Given the description of an element on the screen output the (x, y) to click on. 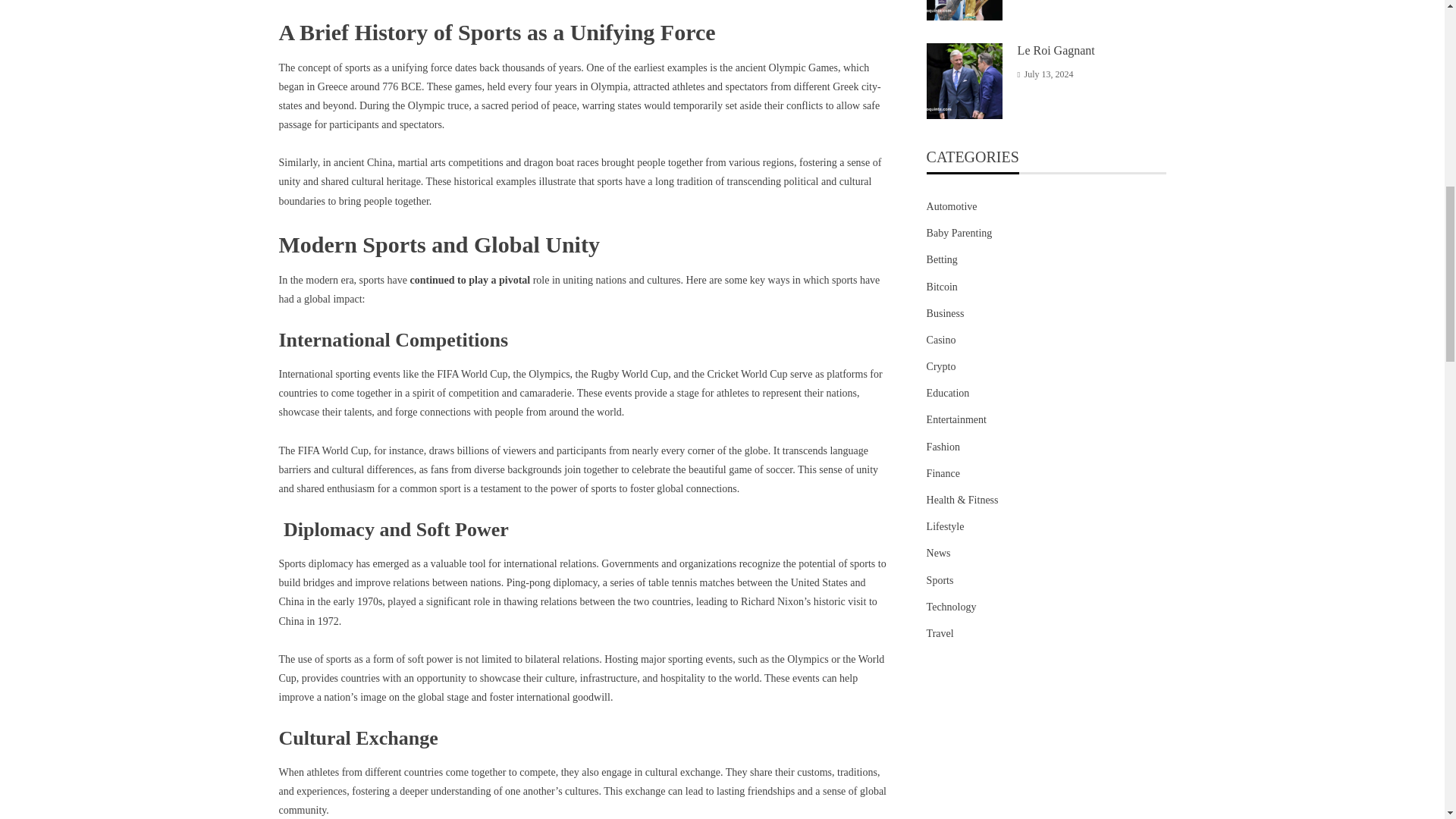
continued to play a pivotal (469, 279)
